Given the description of an element on the screen output the (x, y) to click on. 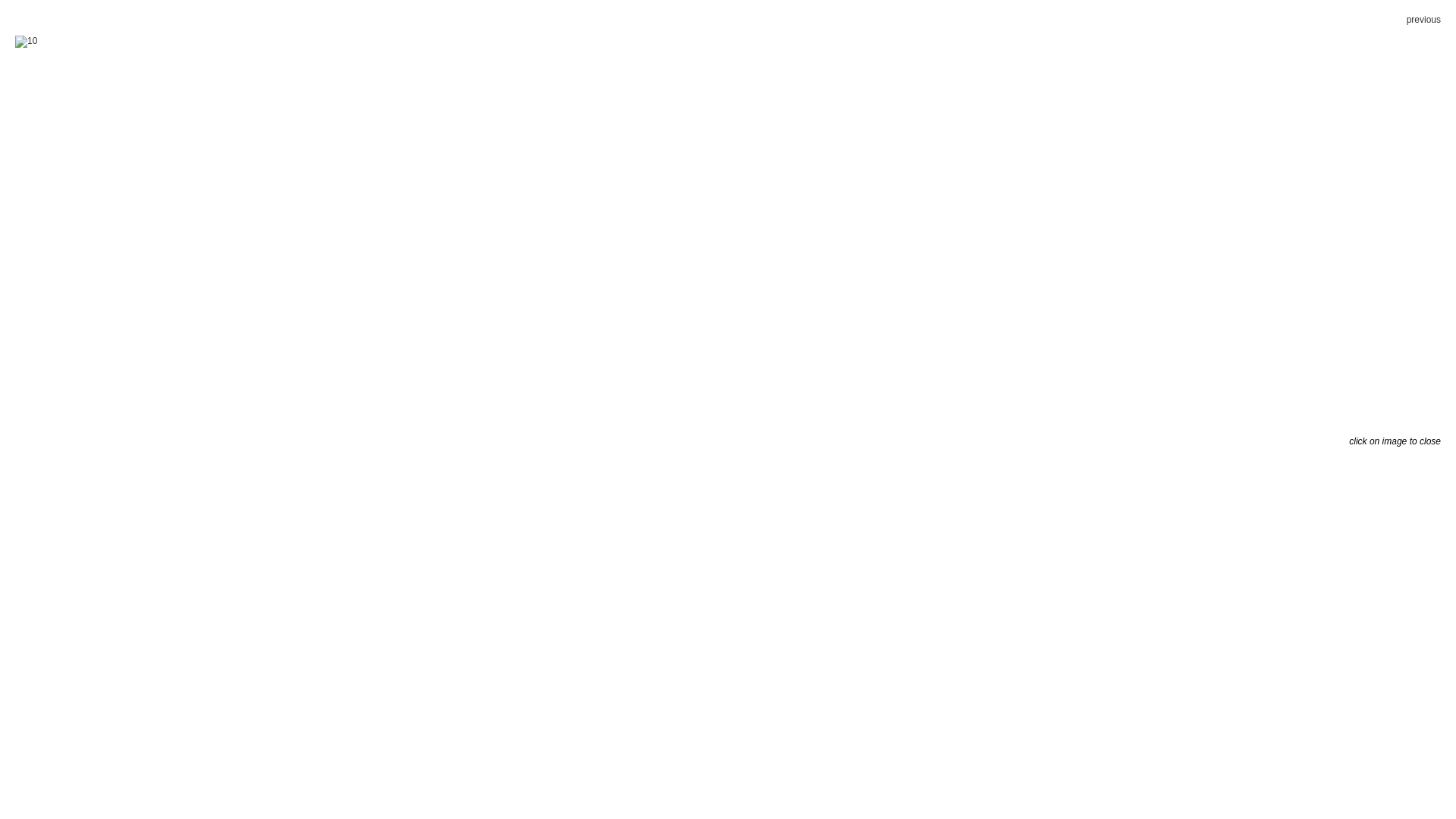
click to close window Element type: hover (26, 41)
previous Element type: text (1423, 19)
